Given the description of an element on the screen output the (x, y) to click on. 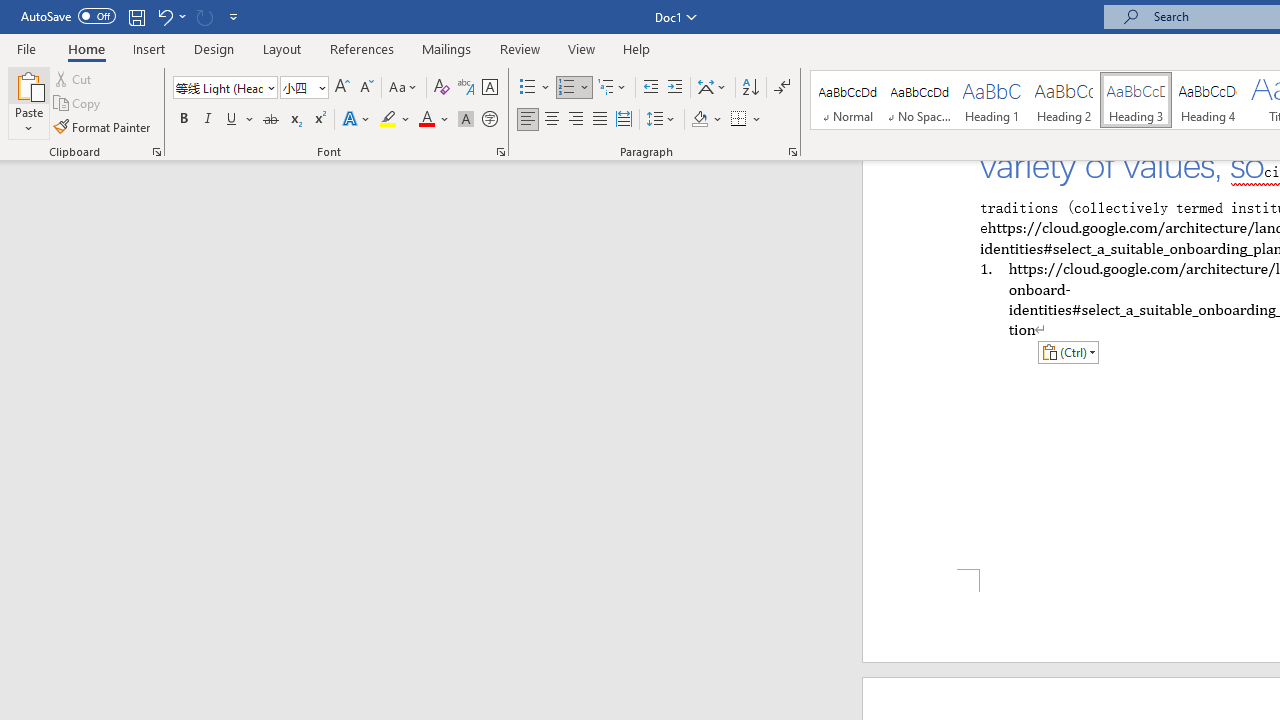
Paragraph... (792, 151)
Strikethrough (270, 119)
Font... (500, 151)
Office Clipboard... (156, 151)
Heading 3 (1135, 100)
Font Color Blue-Gray, Text 2 (426, 119)
Increase Indent (675, 87)
Line and Paragraph Spacing (661, 119)
Italic (207, 119)
Shading RGB(0, 0, 0) (699, 119)
